Given the description of an element on the screen output the (x, y) to click on. 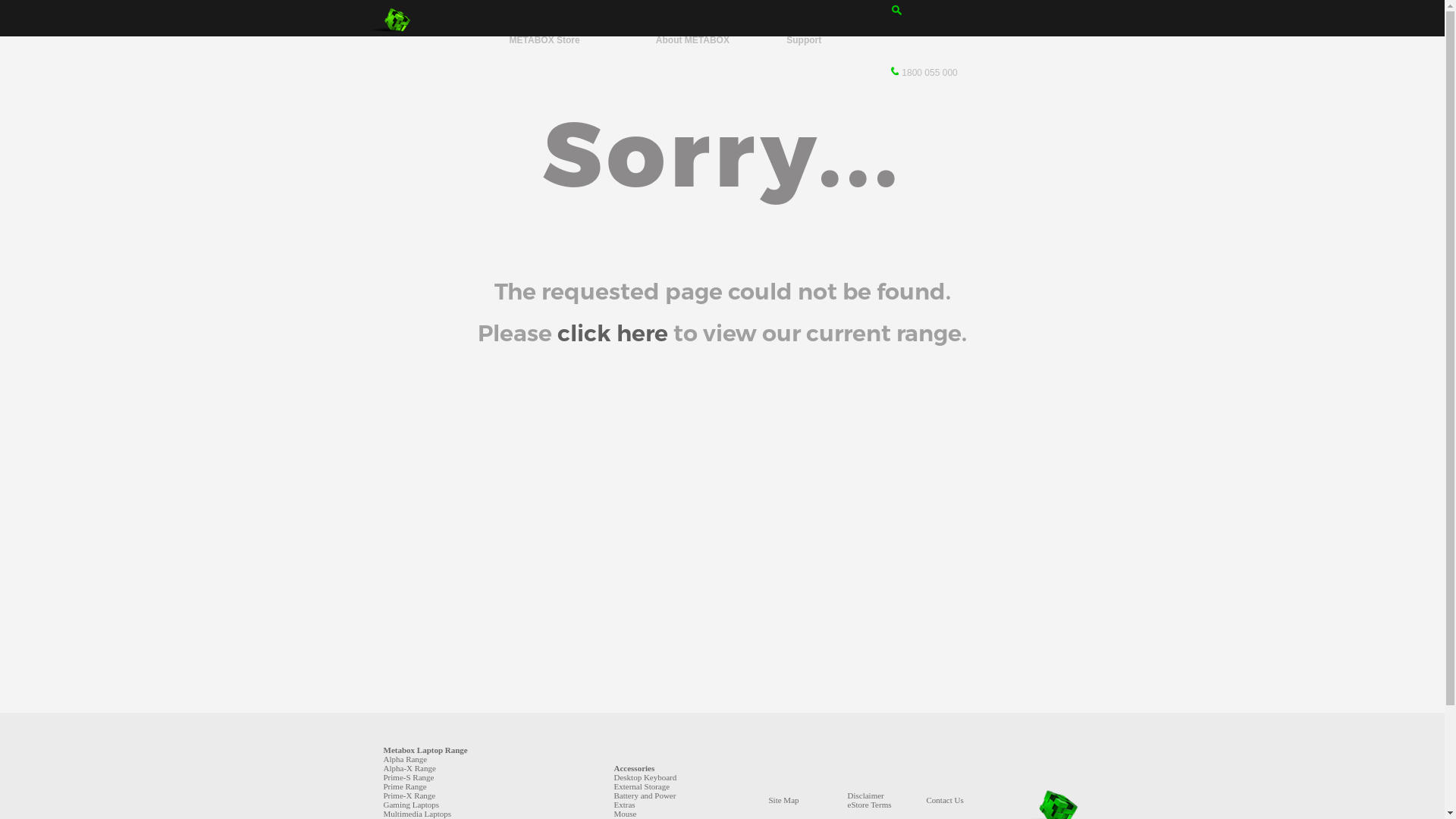
Desktop Keyboard Element type: text (645, 776)
Battery and Power Element type: text (645, 795)
Prime-S Range Element type: text (408, 776)
Multimedia Laptops Element type: text (417, 813)
Contact Us Element type: text (944, 799)
eStore Terms Element type: text (869, 804)
Gaming Laptops Element type: text (411, 804)
Prime Range Element type: text (404, 785)
Site Map Element type: text (783, 799)
Alpha Range Element type: text (405, 758)
External Storage Element type: text (642, 785)
Extras Element type: text (624, 804)
1800 055 000 Element type: text (924, 72)
Mouse Element type: text (625, 813)
METABOX Store Element type: text (544, 39)
About METABOX Element type: text (692, 39)
Metabox Laptop Range Element type: text (425, 749)
About METABOX Element type: text (692, 39)
Accessories Element type: text (634, 767)
Alpha-X Range Element type: text (409, 767)
Disclaimer Element type: text (865, 795)
click here Element type: text (612, 333)
Prime-X Range Element type: text (409, 795)
